Given the description of an element on the screen output the (x, y) to click on. 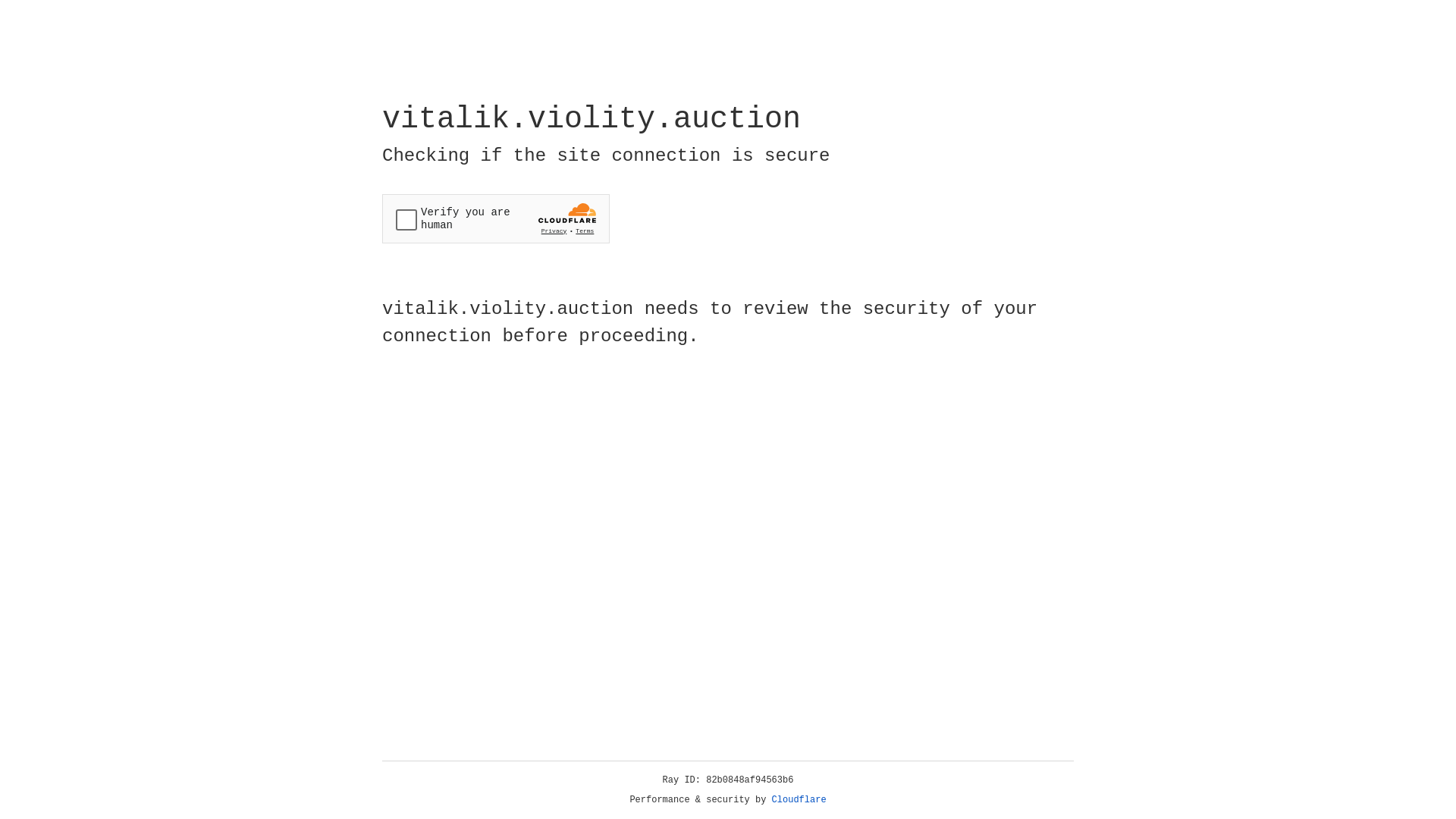
Widget containing a Cloudflare security challenge Element type: hover (495, 218)
Cloudflare Element type: text (798, 799)
